Given the description of an element on the screen output the (x, y) to click on. 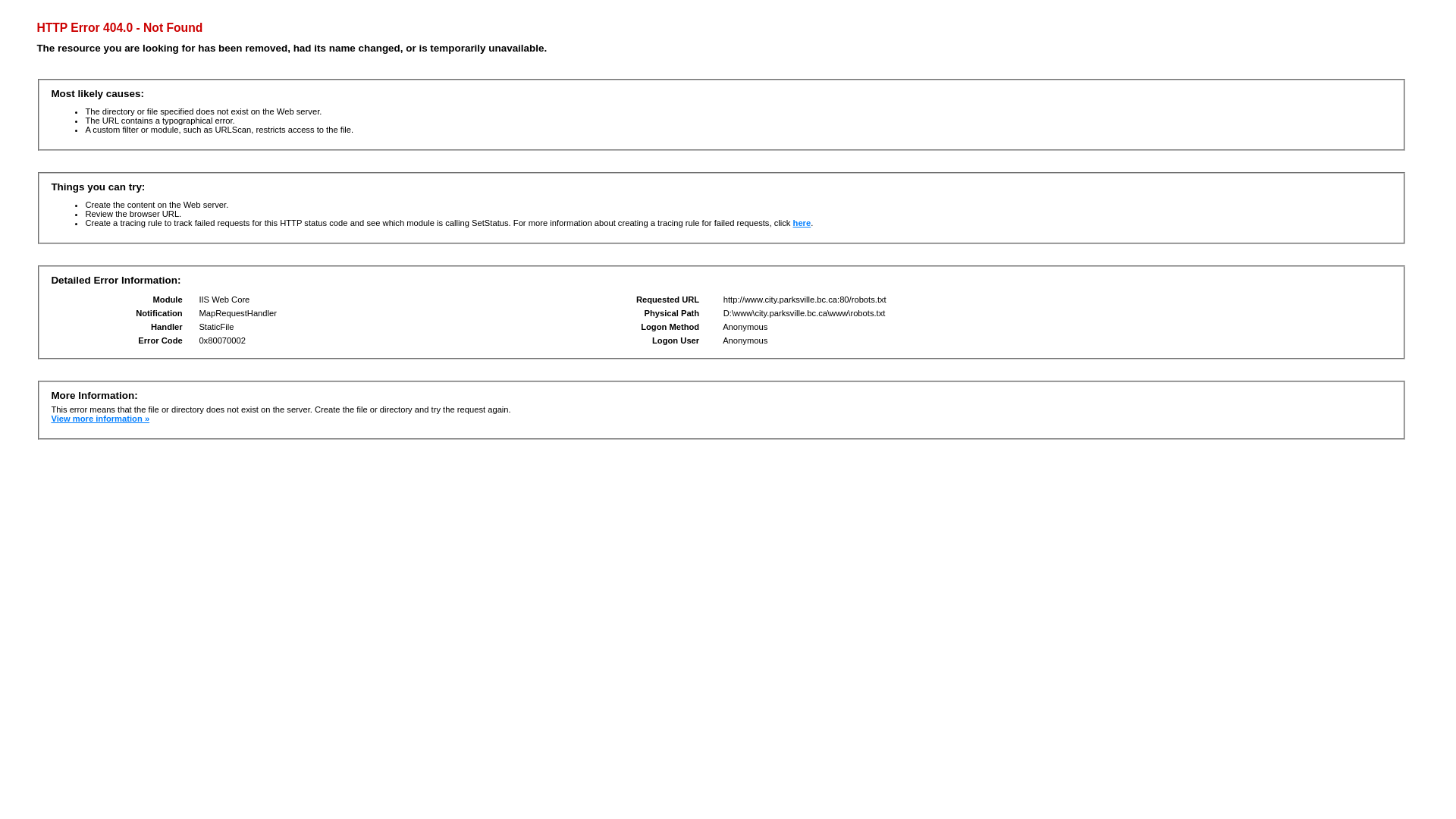
here Element type: text (802, 222)
